Given the description of an element on the screen output the (x, y) to click on. 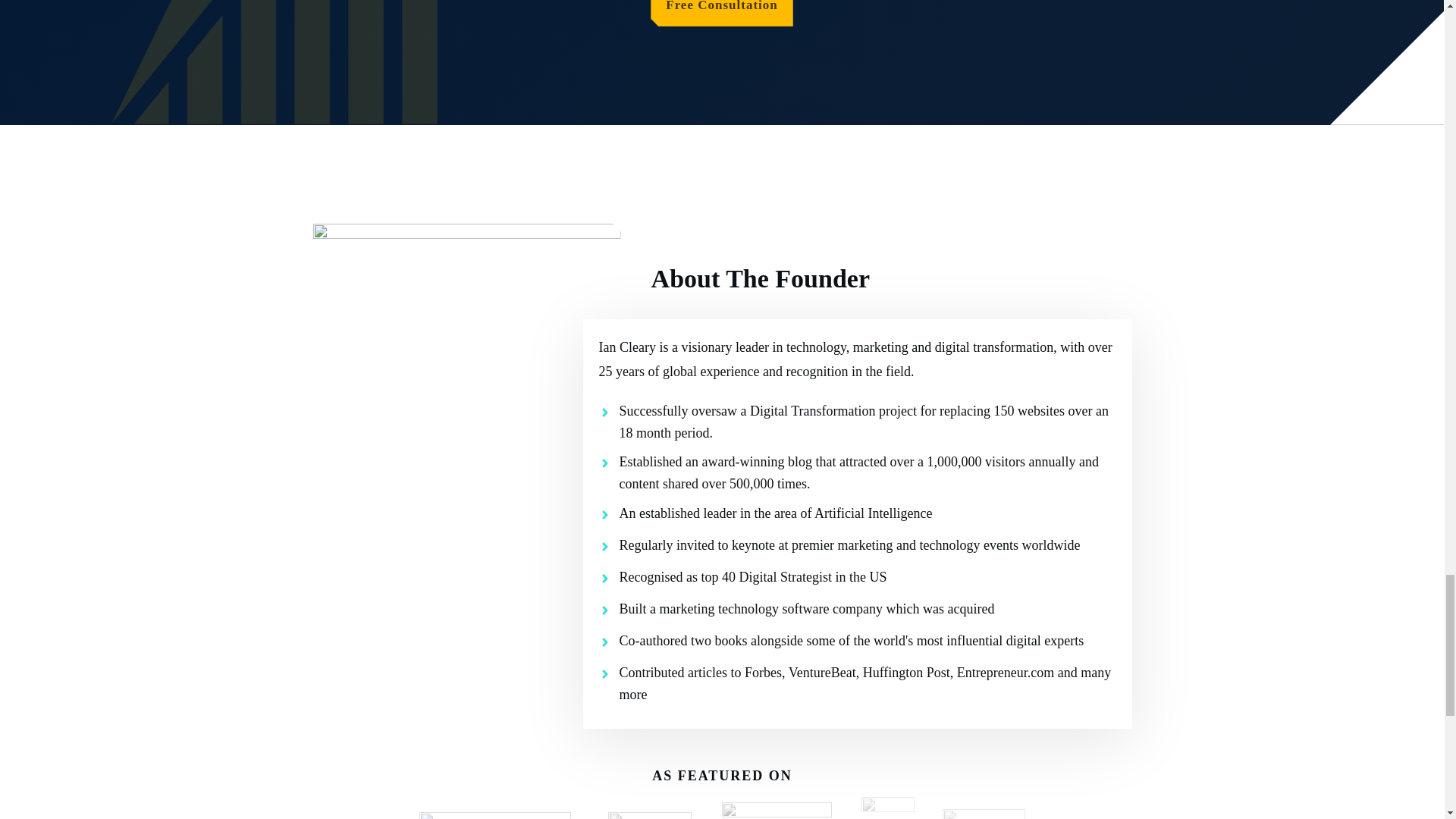
Free Consultation (721, 13)
logo-NYT (494, 815)
